Given the description of an element on the screen output the (x, y) to click on. 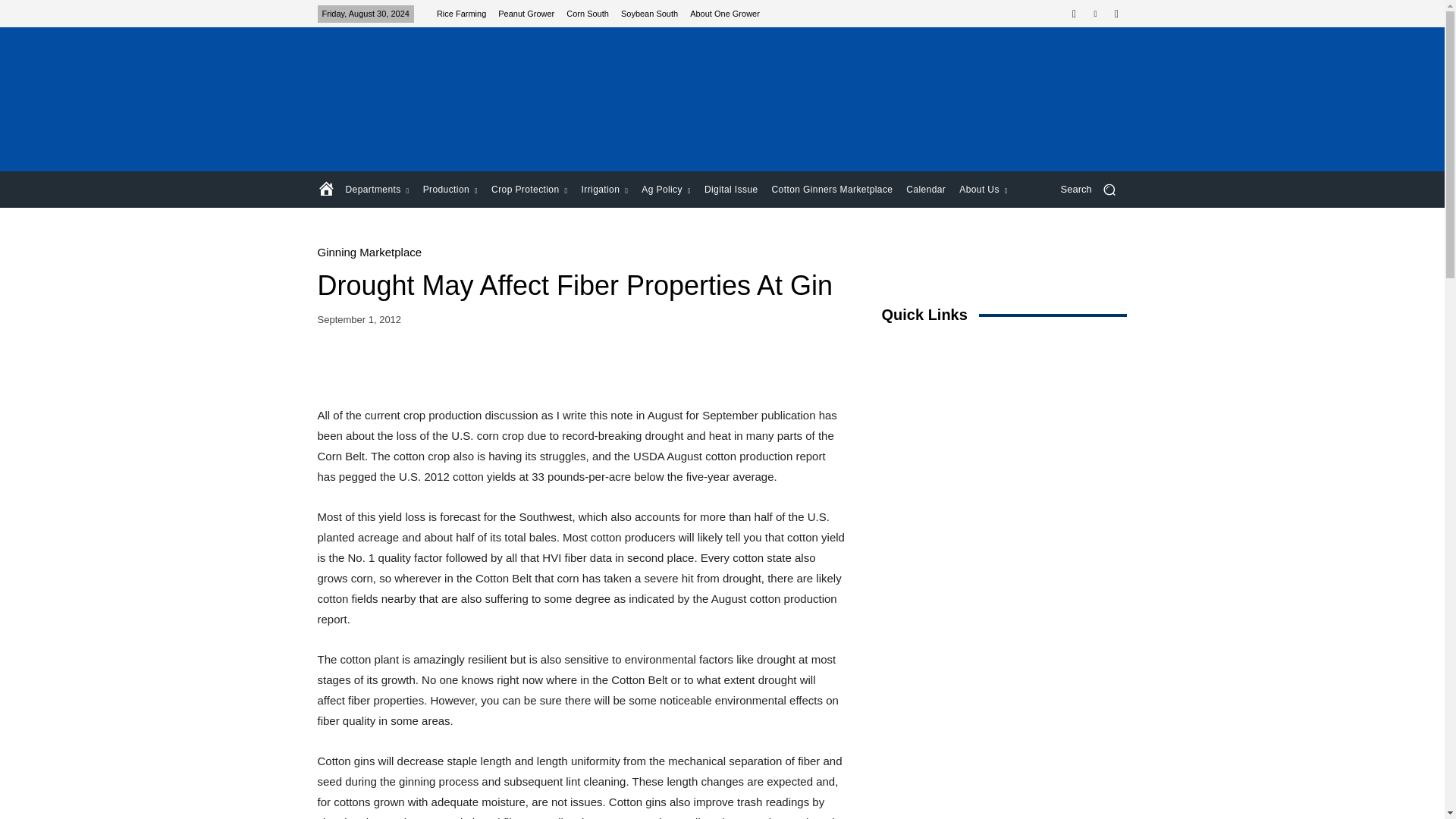
Rss (1115, 13)
Twitter (1094, 13)
Facebook (1073, 13)
Cotton Farming Header Logo (425, 99)
